Given the description of an element on the screen output the (x, y) to click on. 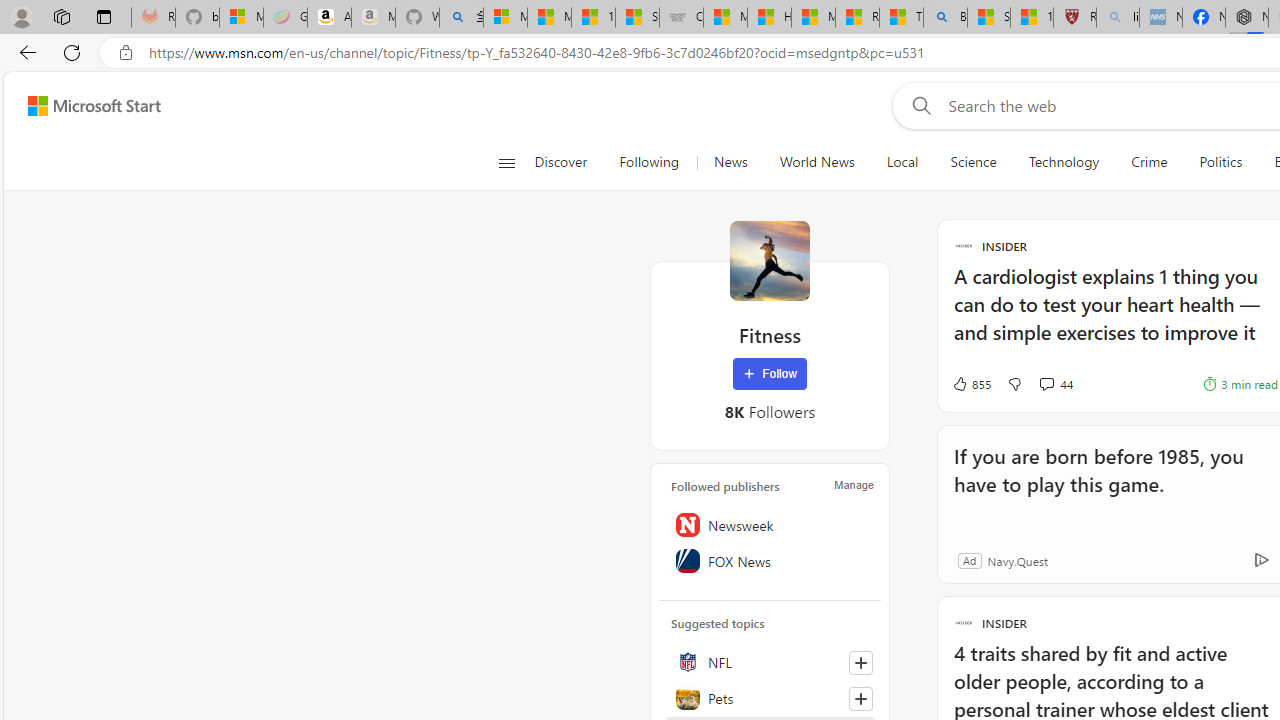
Bing (945, 17)
Nordace - Nordace Siena Is Not An Ordinary Backpack (1247, 17)
FOX News (770, 561)
Combat Siege (681, 17)
Crime (1149, 162)
Local (902, 162)
Skip to footer (82, 105)
World News (817, 162)
Ad Choice (1261, 560)
World News (816, 162)
Politics (1220, 162)
